Given the description of an element on the screen output the (x, y) to click on. 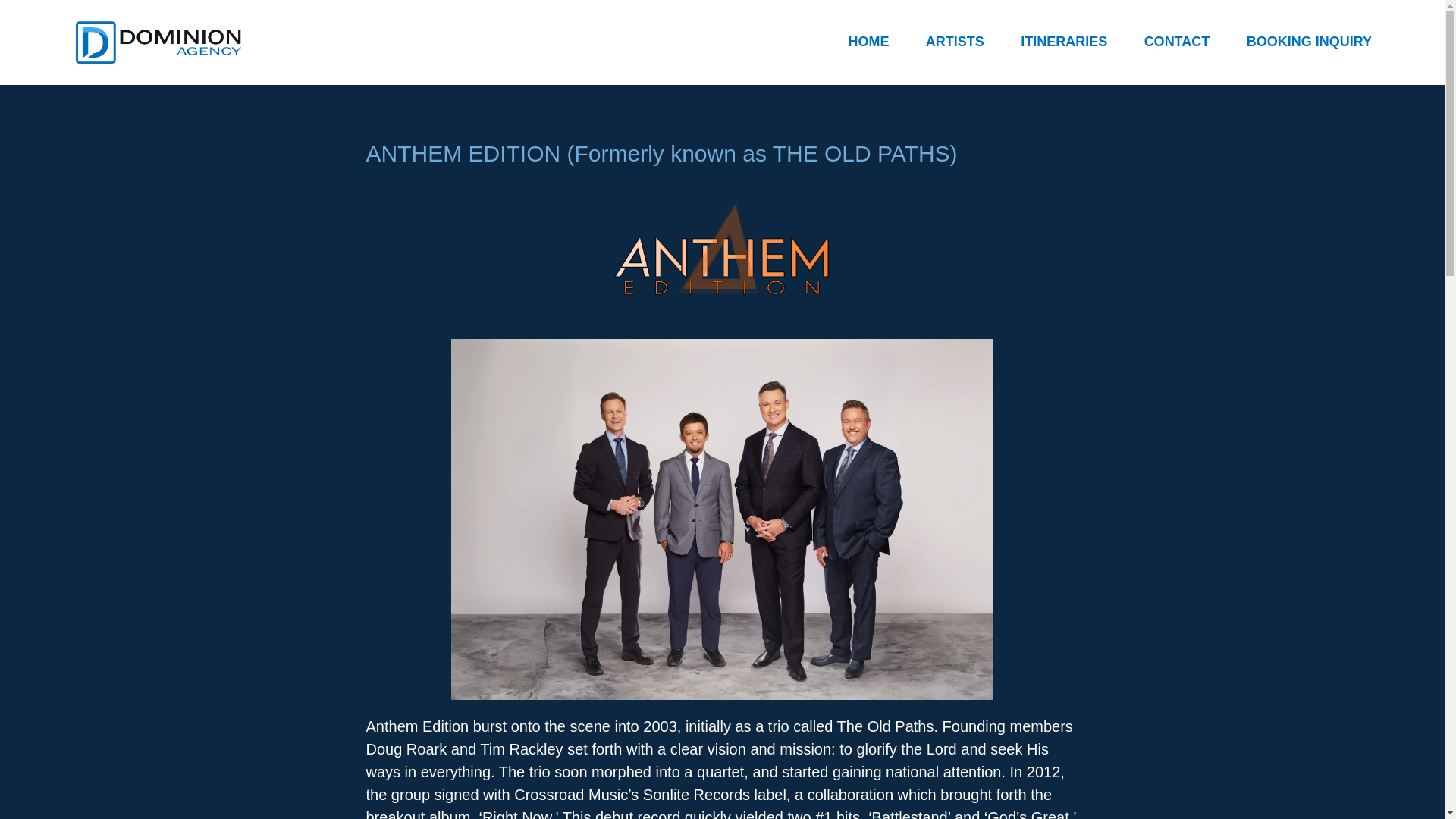
ARTISTS (955, 41)
BOOKING INQUIRY (1308, 41)
HOME (867, 41)
CONTACT (1176, 41)
ITINERARIES (1063, 41)
